Given the description of an element on the screen output the (x, y) to click on. 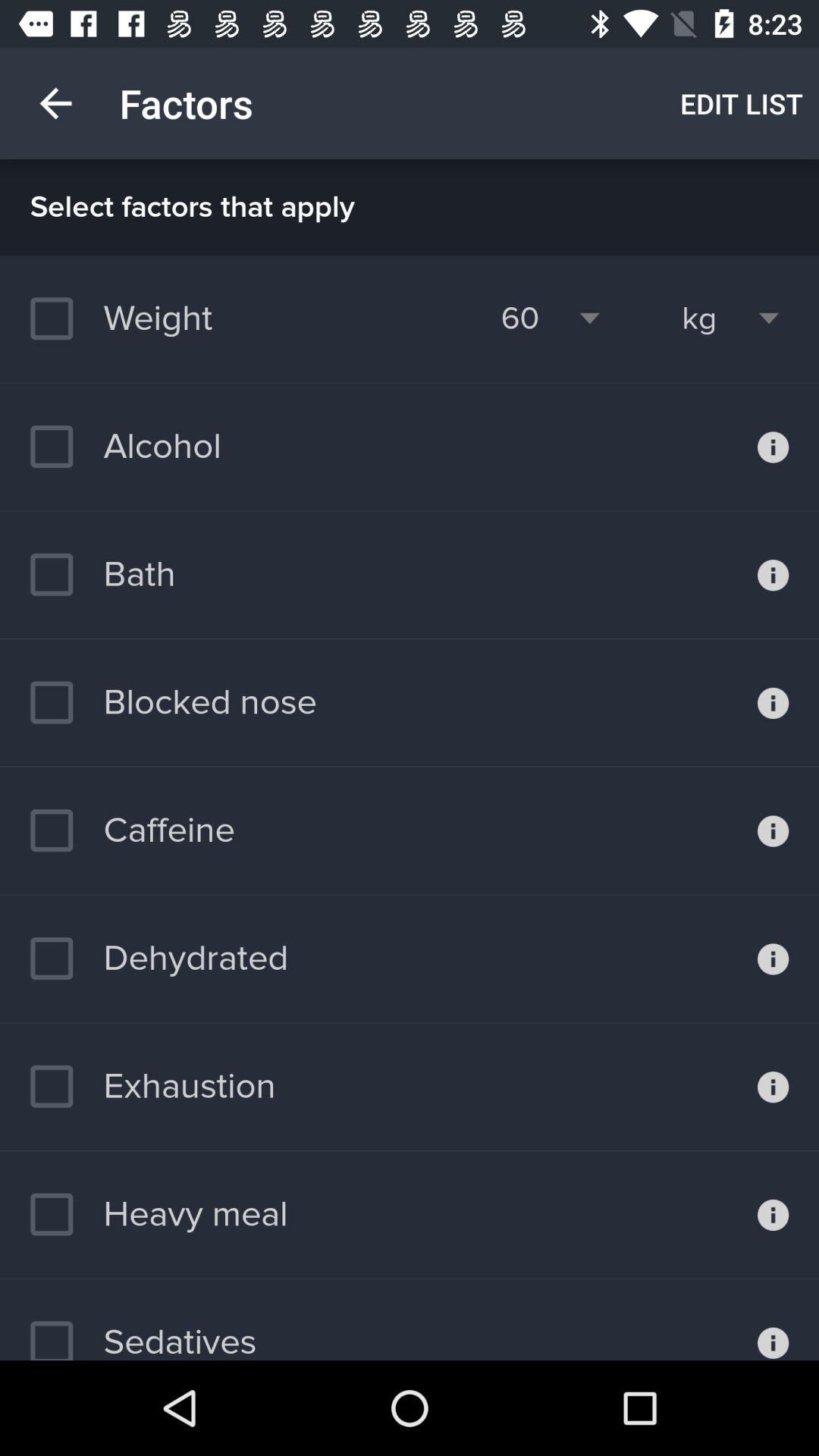
snorelab record your snoring (773, 958)
